Given the description of an element on the screen output the (x, y) to click on. 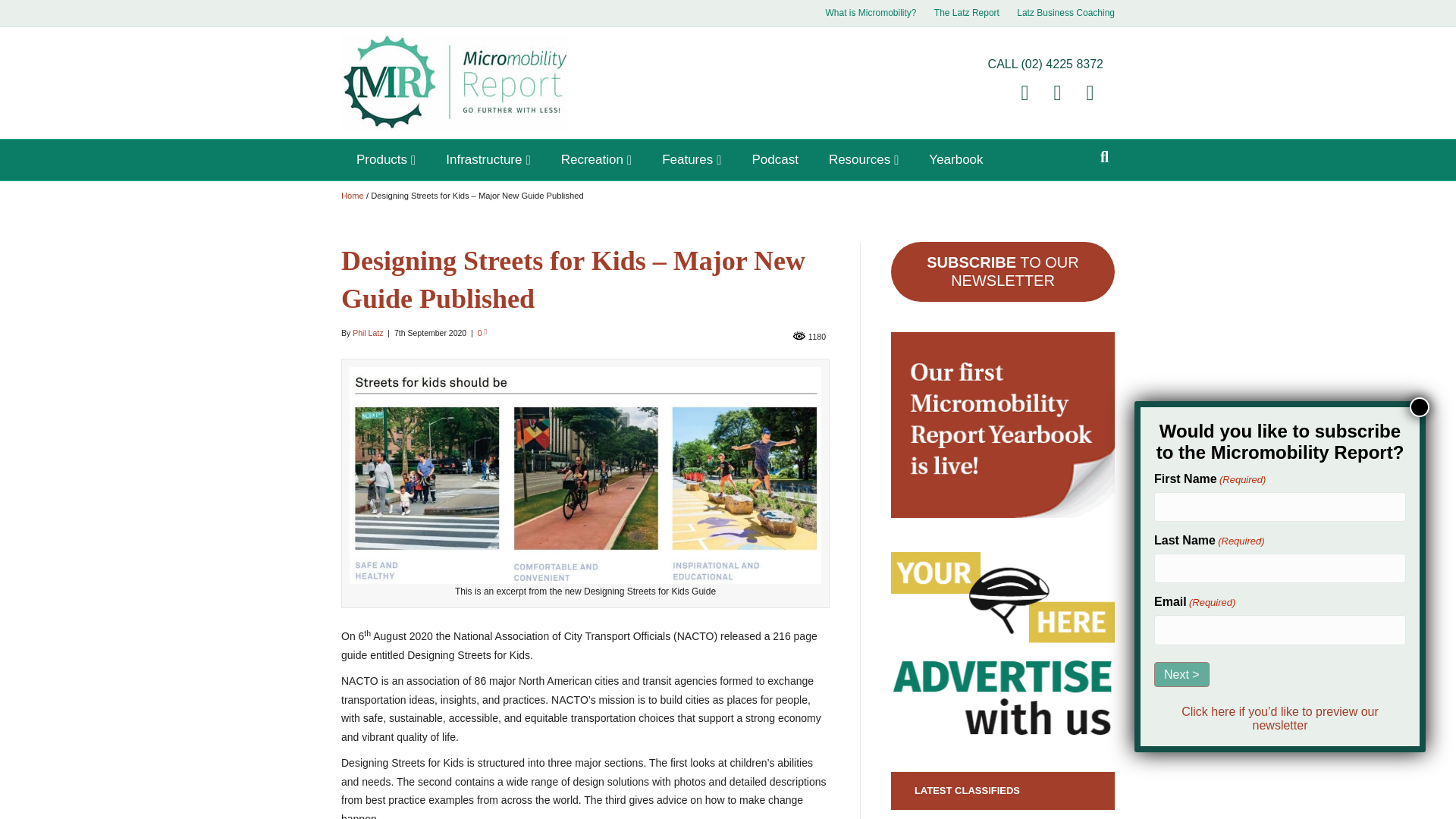
Micromobility Features (691, 159)
Micromobility Infrastructure (487, 159)
Micromobility Definition (869, 13)
